Given the description of an element on the screen output the (x, y) to click on. 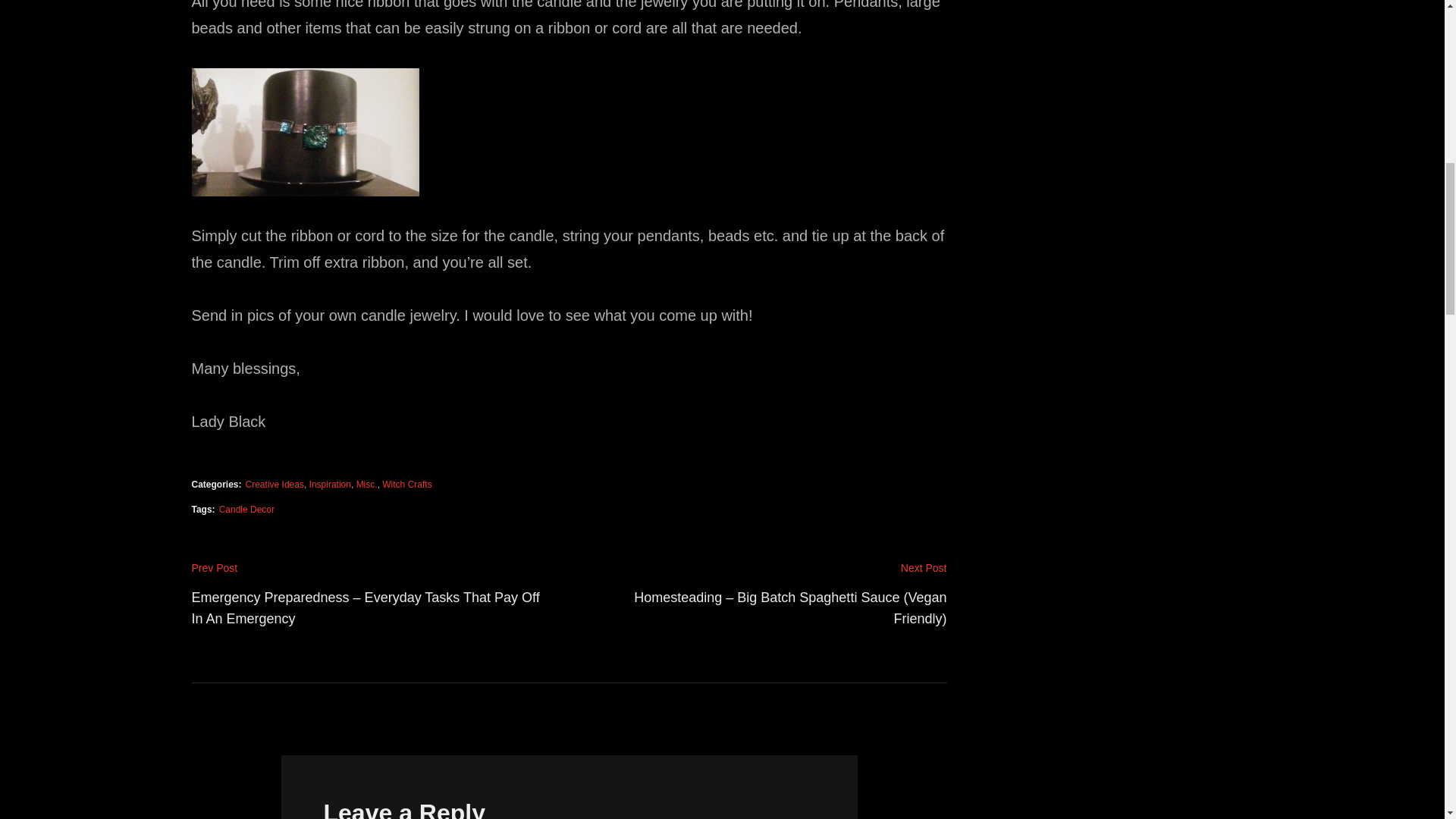
Witch Crafts (405, 484)
Misc. (366, 484)
Creative Ideas (275, 484)
Candle Decor (247, 509)
Inspiration (329, 484)
